Given the description of an element on the screen output the (x, y) to click on. 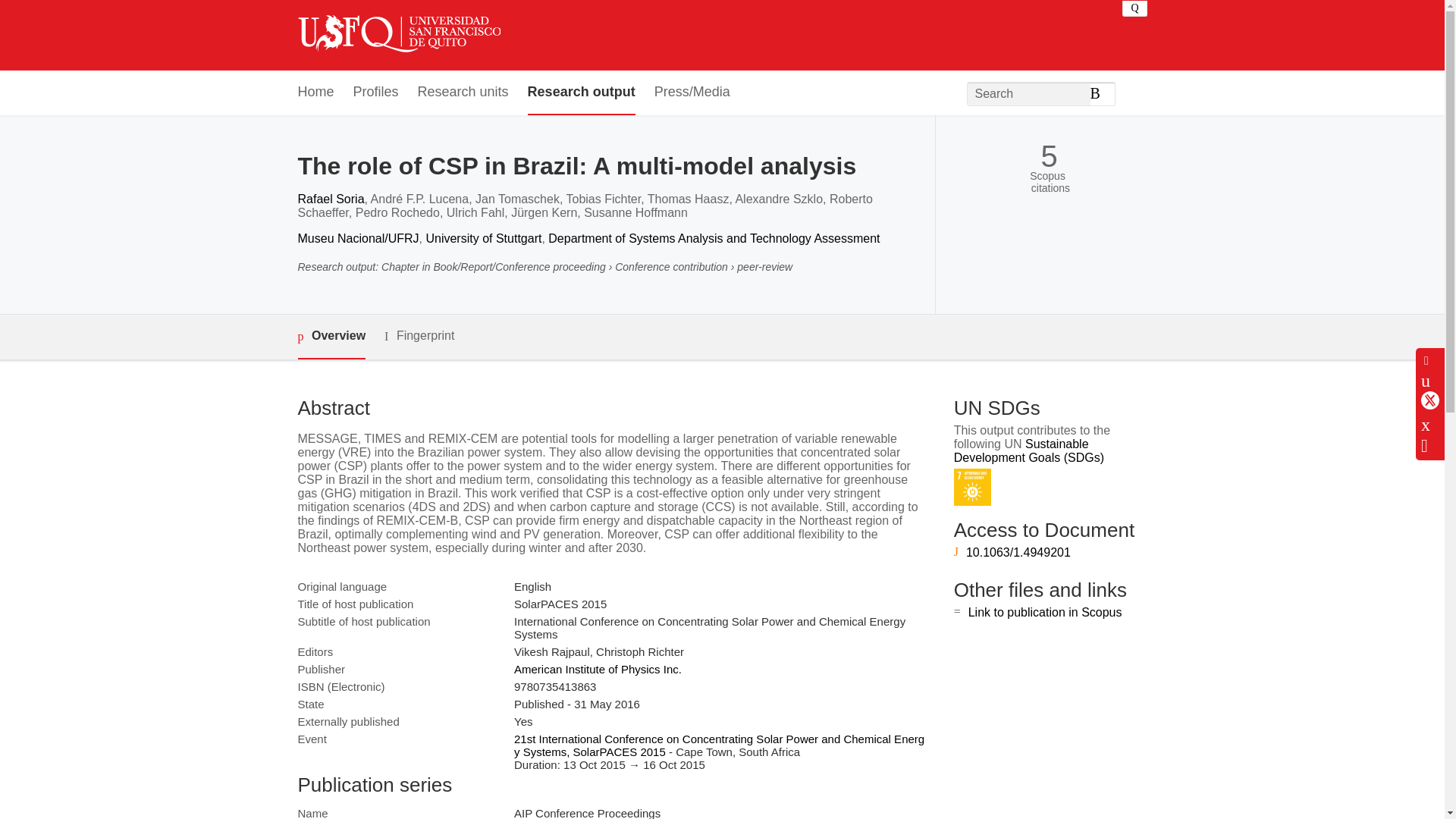
Fingerprint (419, 335)
Research units (462, 92)
Department of Systems Analysis and Technology Assessment (713, 237)
Overview (331, 336)
Profiles (375, 92)
Link to publication in Scopus (1045, 612)
Universidad San Francisco de Quito USFQ Home (398, 35)
University of Stuttgart (483, 237)
SDG 7 - Affordable and Clean Energy (972, 487)
